Given the description of an element on the screen output the (x, y) to click on. 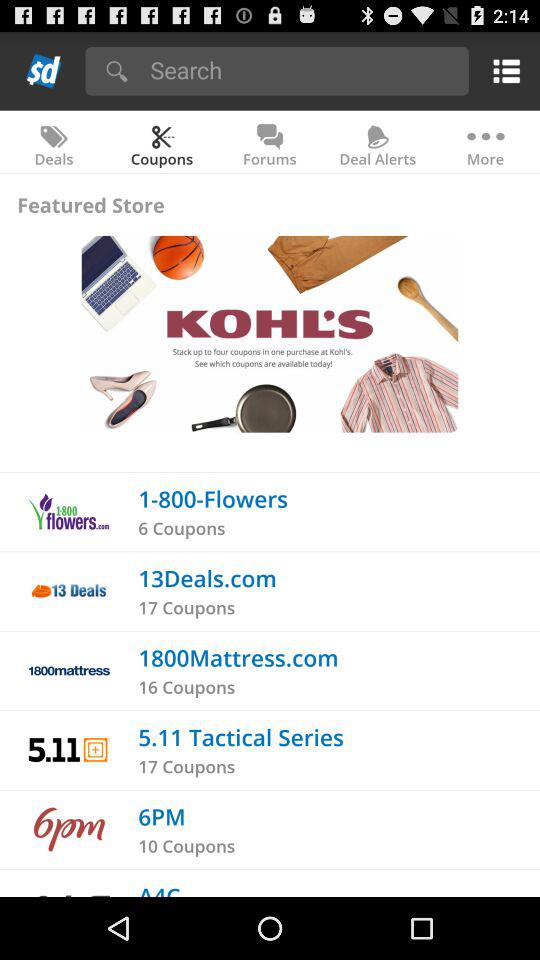
turn on the app above 10 coupons icon (161, 816)
